Given the description of an element on the screen output the (x, y) to click on. 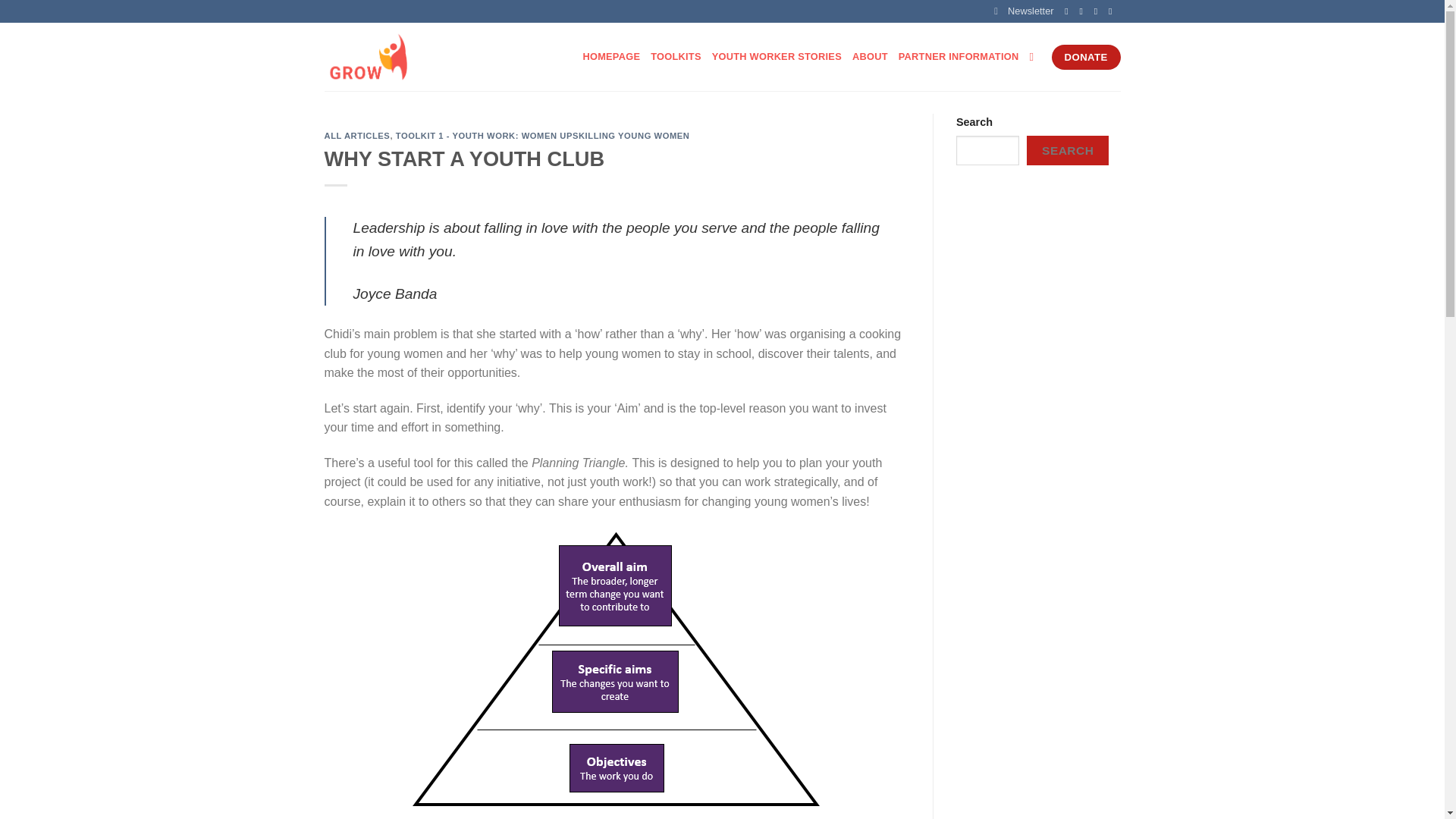
TOOLKIT 1 - YOUTH WORK: WOMEN UPSKILLING YOUNG WOMEN (543, 135)
Project Grow - Project Grow (400, 56)
Newsletter (1023, 11)
DONATE (1086, 57)
YOUTH WORKER STORIES (776, 56)
ABOUT (869, 56)
SEARCH (1067, 150)
TOOLKITS (675, 56)
ALL ARTICLES (357, 135)
HOMEPAGE (611, 56)
PARTNER INFORMATION (958, 56)
